Given the description of an element on the screen output the (x, y) to click on. 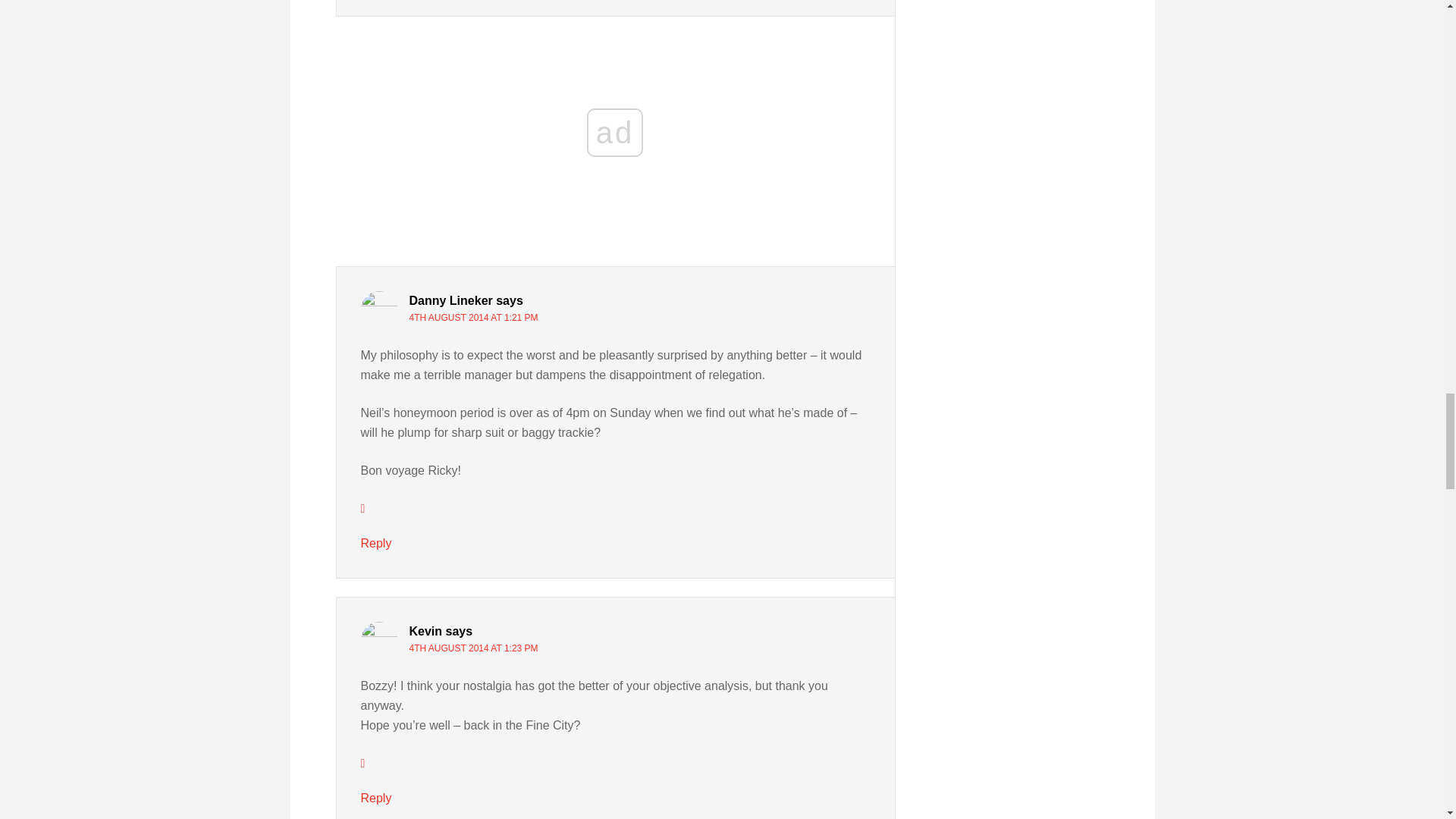
4TH AUGUST 2014 AT 1:21 PM (473, 317)
4TH AUGUST 2014 AT 1:23 PM (473, 647)
Reply (376, 543)
